Given the description of an element on the screen output the (x, y) to click on. 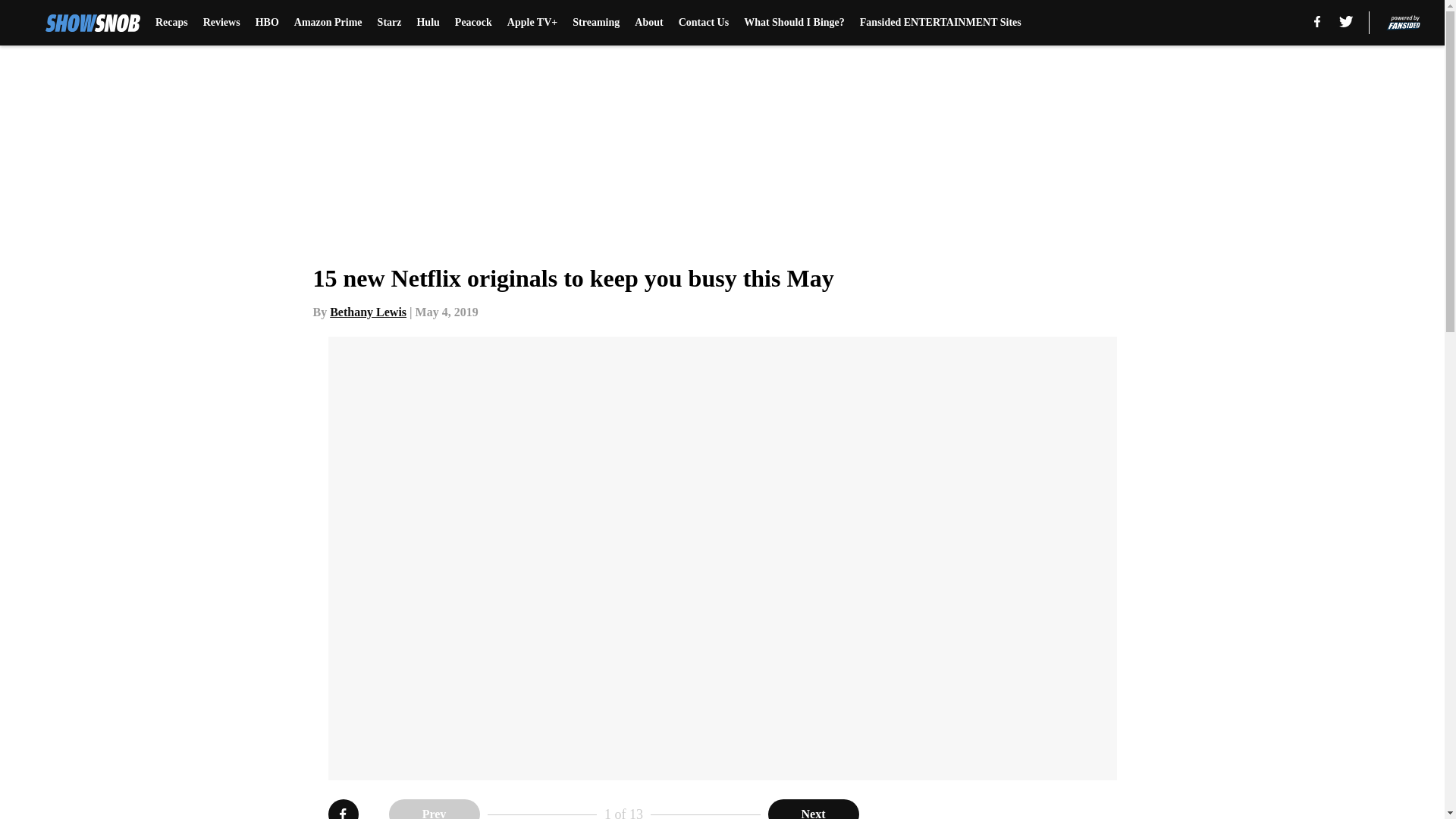
Hulu (427, 22)
Contact Us (703, 22)
Streaming (596, 22)
Fansided ENTERTAINMENT Sites (941, 22)
HBO (267, 22)
Amazon Prime (328, 22)
Starz (389, 22)
Bethany Lewis (368, 311)
What Should I Binge? (794, 22)
Recaps (171, 22)
Prev (433, 809)
Next (813, 809)
About (648, 22)
Reviews (221, 22)
Peacock (473, 22)
